Given the description of an element on the screen output the (x, y) to click on. 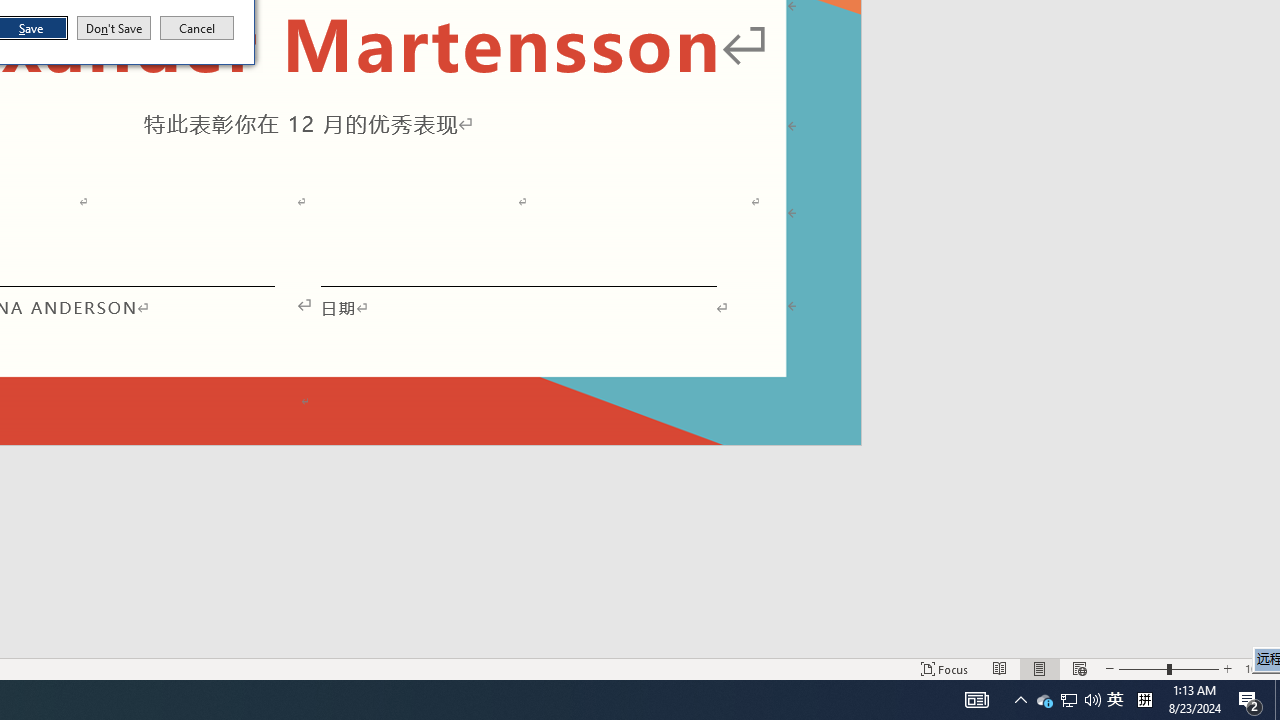
Zoom 100% (1115, 699)
Tray Input Indicator - Chinese (Simplified, China) (1258, 668)
